Given the description of an element on the screen output the (x, y) to click on. 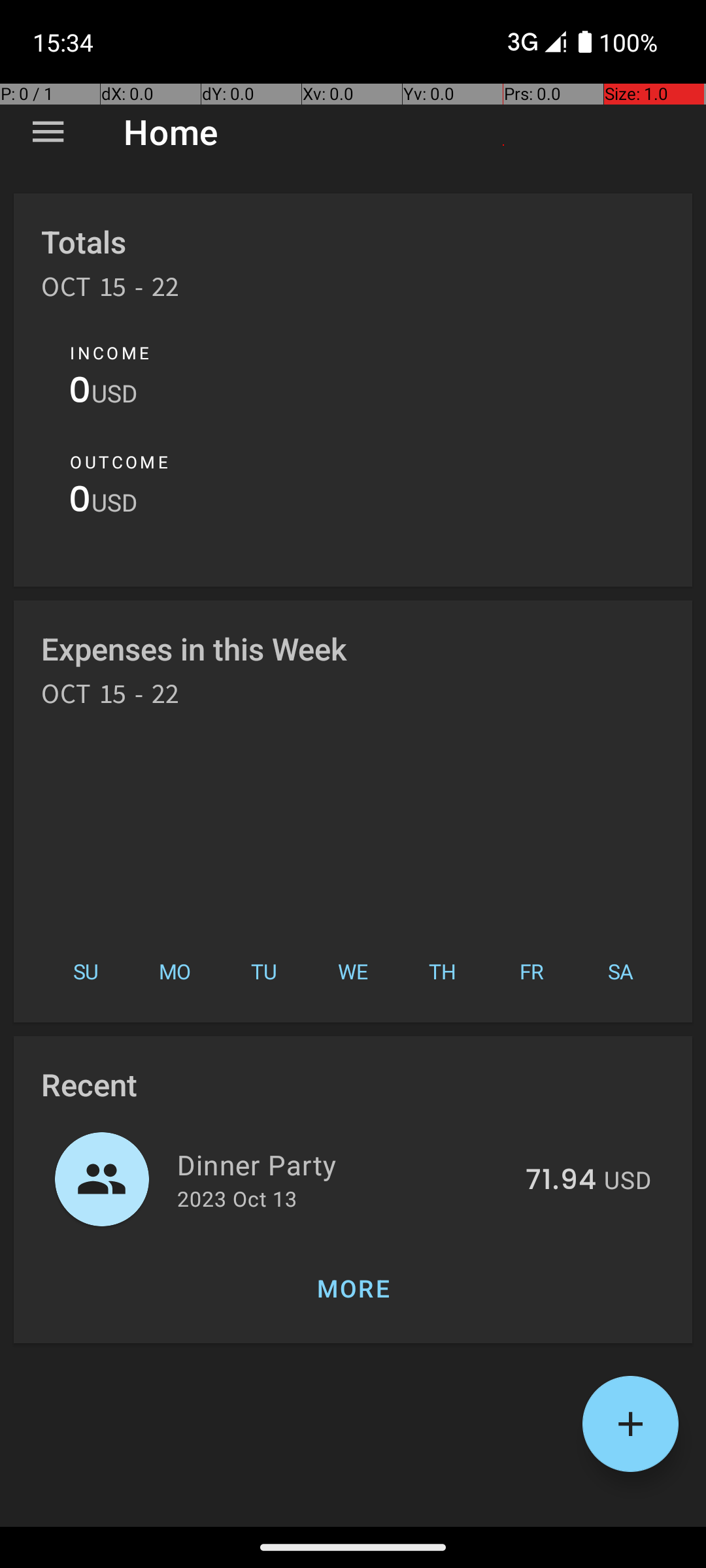
Dinner Party Element type: android.widget.TextView (343, 1164)
71.94 Element type: android.widget.TextView (560, 1180)
